Given the description of an element on the screen output the (x, y) to click on. 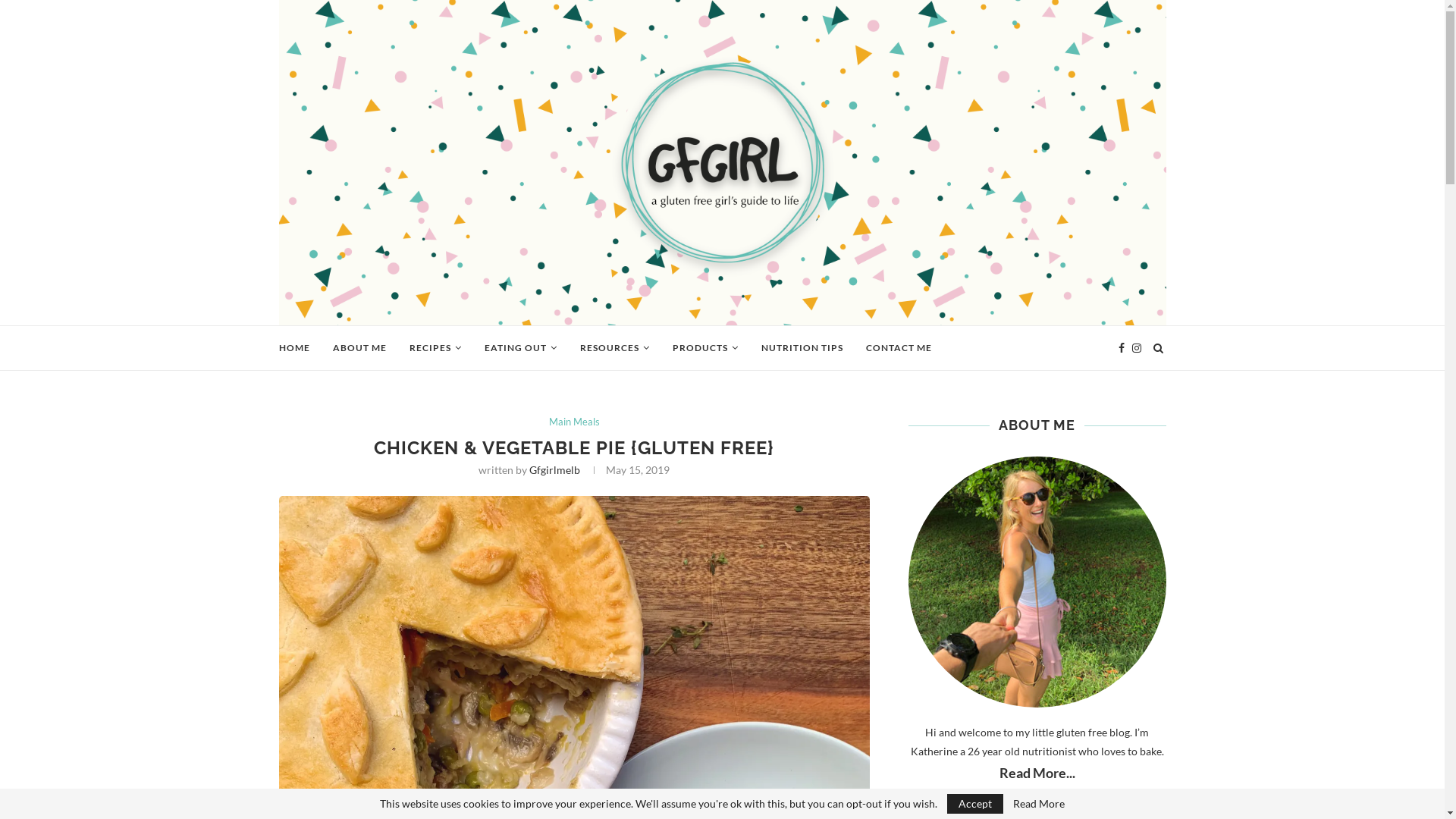
CONTACT ME Element type: text (898, 348)
Read More Element type: text (1038, 803)
PRODUCTS Element type: text (704, 348)
RESOURCES Element type: text (614, 348)
ABOUT ME Element type: text (358, 348)
Gfgirlmelb Element type: text (554, 469)
Accept Element type: text (975, 803)
NUTRITION TIPS Element type: text (802, 348)
Read More... Element type: text (1037, 772)
Main Meals Element type: text (574, 422)
RECIPES Element type: text (435, 348)
EATING OUT Element type: text (519, 348)
HOME Element type: text (294, 348)
